Given the description of an element on the screen output the (x, y) to click on. 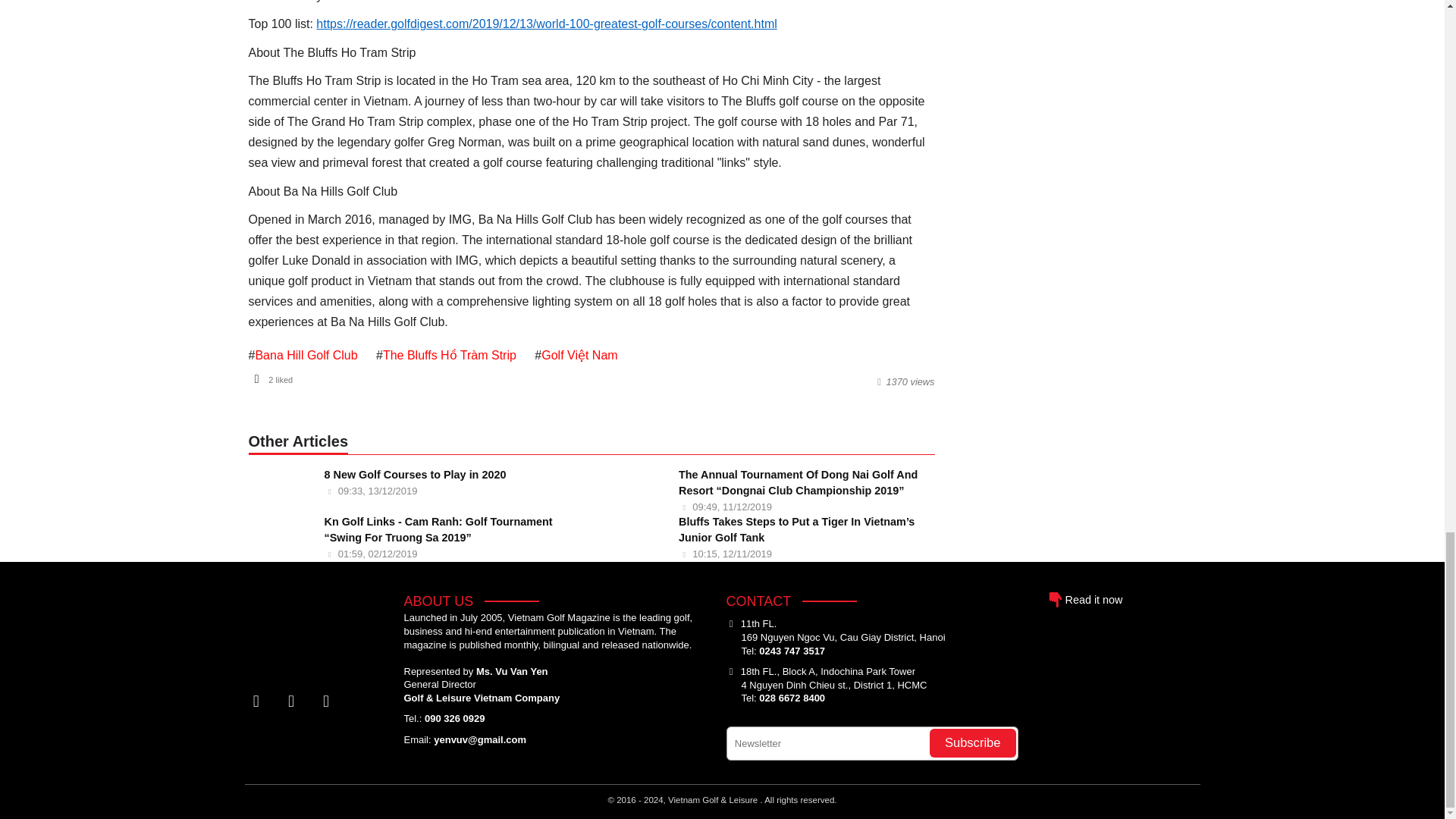
Bana Hill Golf Club (305, 354)
